Given the description of an element on the screen output the (x, y) to click on. 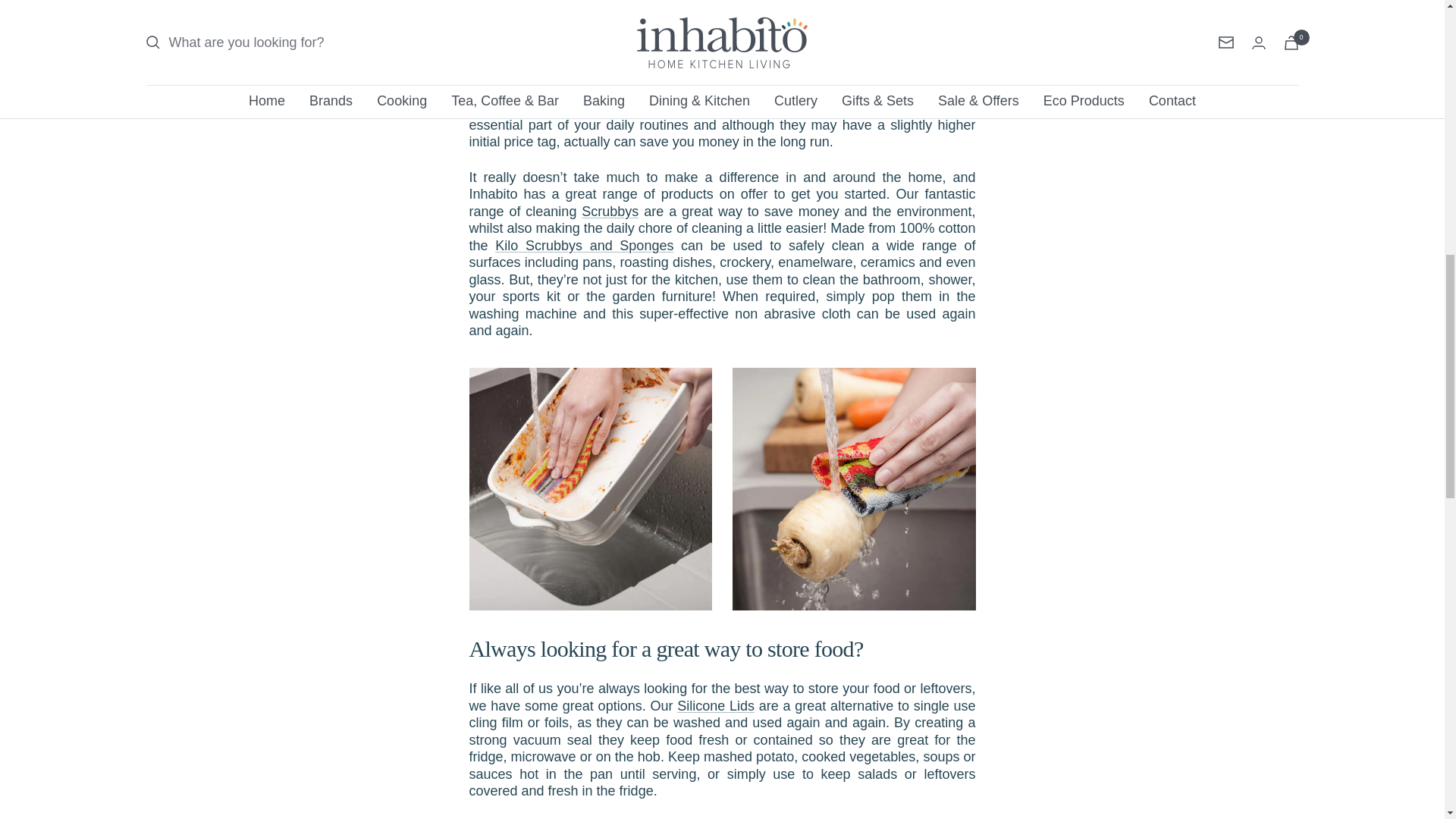
Kilo Scrubbys (589, 488)
Eco Silicone Lids (715, 705)
Eco cleaning scrubbys (609, 211)
Eco Cleaning Products (583, 245)
Kilo Scrubbys (853, 488)
